Given the description of an element on the screen output the (x, y) to click on. 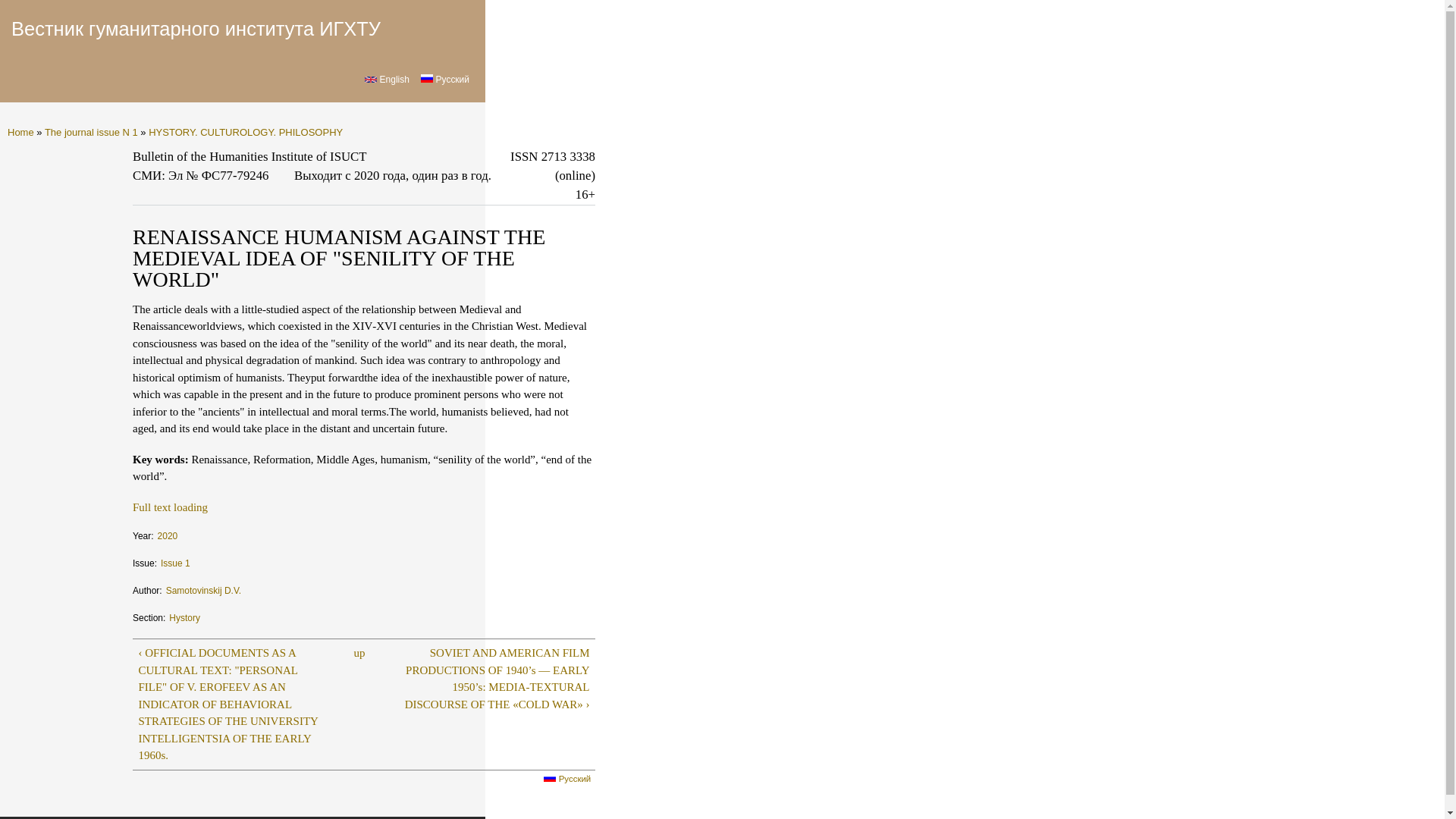
Samotovinskij D.V. (203, 585)
HYSTORY. CULTUROLOGY. PHILOSOPHY (245, 131)
Hystory (184, 612)
up (359, 652)
Home (20, 131)
The journal issue N 1 (91, 131)
English (371, 78)
Home (195, 28)
English (387, 79)
Go to parent page (359, 652)
Issue 1 (175, 558)
Go to next page (494, 678)
Go to previous page (232, 704)
Full text loading (170, 507)
